Given the description of an element on the screen output the (x, y) to click on. 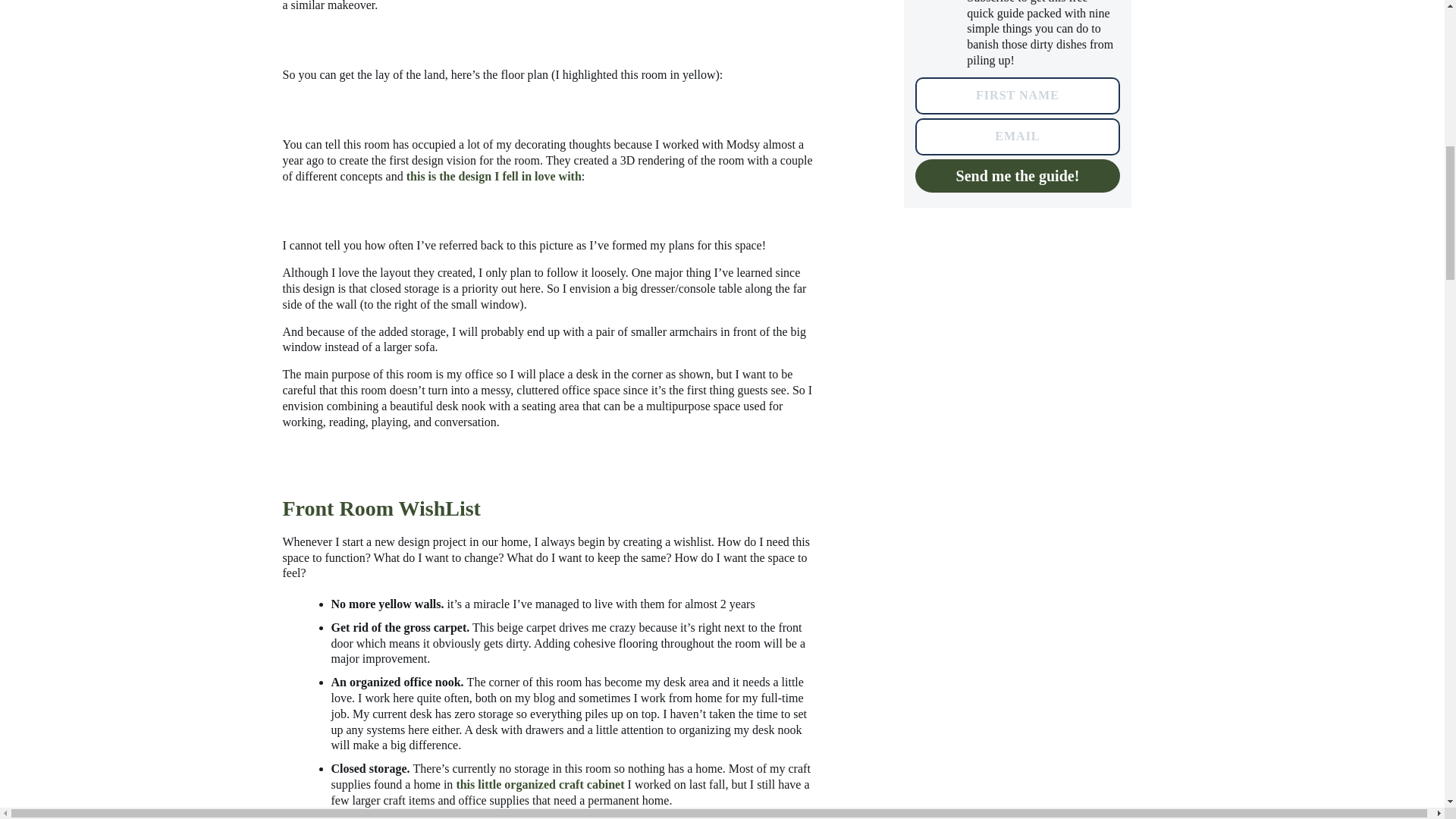
this is the design I fell in love with (493, 175)
this little organized craft cabinet (538, 784)
